Given the description of an element on the screen output the (x, y) to click on. 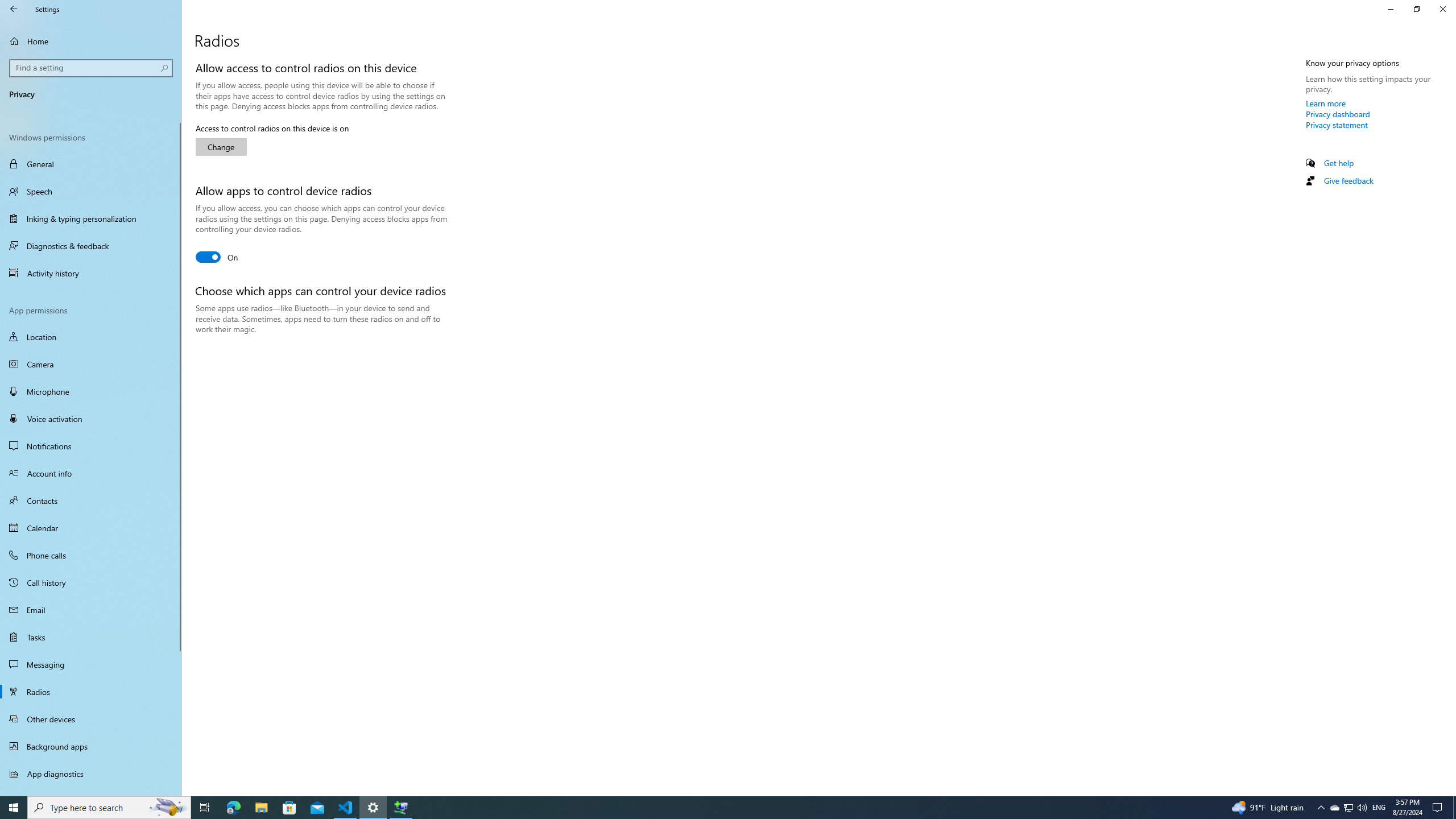
Home (91, 40)
Show desktop (1454, 807)
Restore Settings (1416, 9)
User Promoted Notification Area (1347, 807)
Q2790: 100% (1361, 807)
Notifications (91, 445)
Minimize Settings (1390, 9)
Location (91, 336)
Search highlights icon opens search home window (167, 807)
Type here to search (1347, 807)
Start (108, 807)
